Given the description of an element on the screen output the (x, y) to click on. 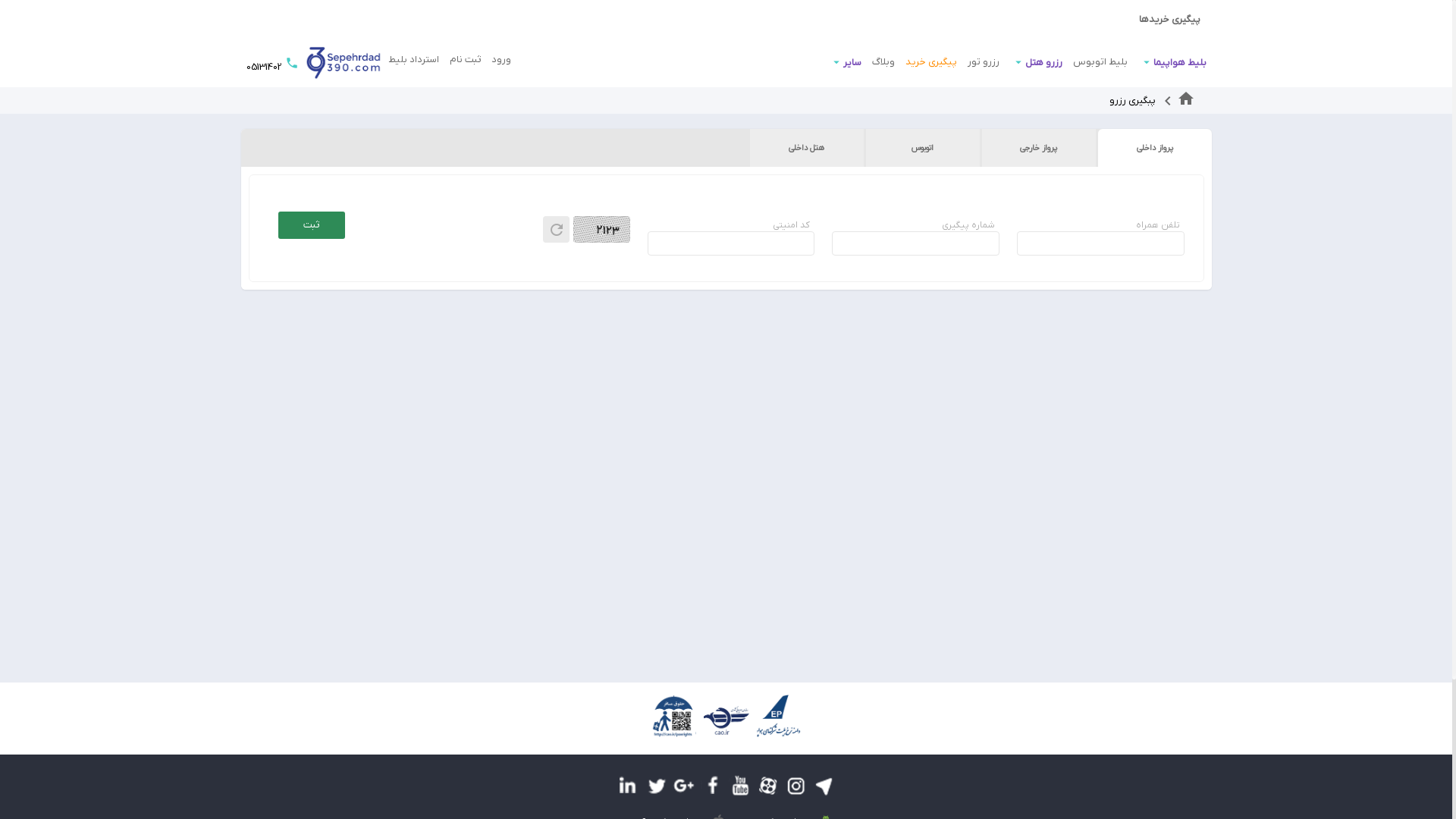
home Element type: text (1185, 100)
05131402 Element type: text (262, 66)
